Given the description of an element on the screen output the (x, y) to click on. 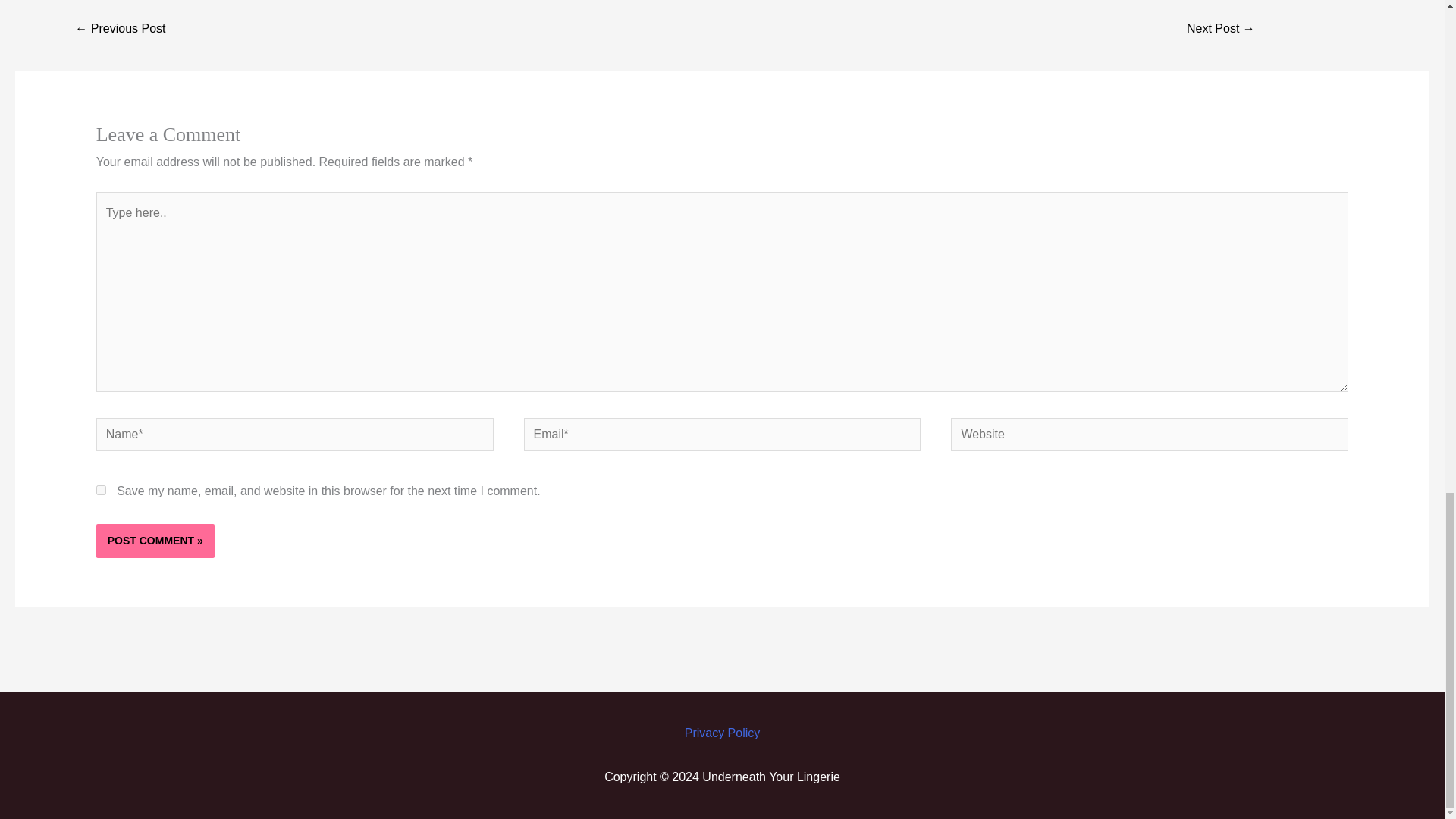
my spiritual awakening story of being eve. (1220, 29)
yes (101, 490)
Privacy Policy (722, 732)
